Given the description of an element on the screen output the (x, y) to click on. 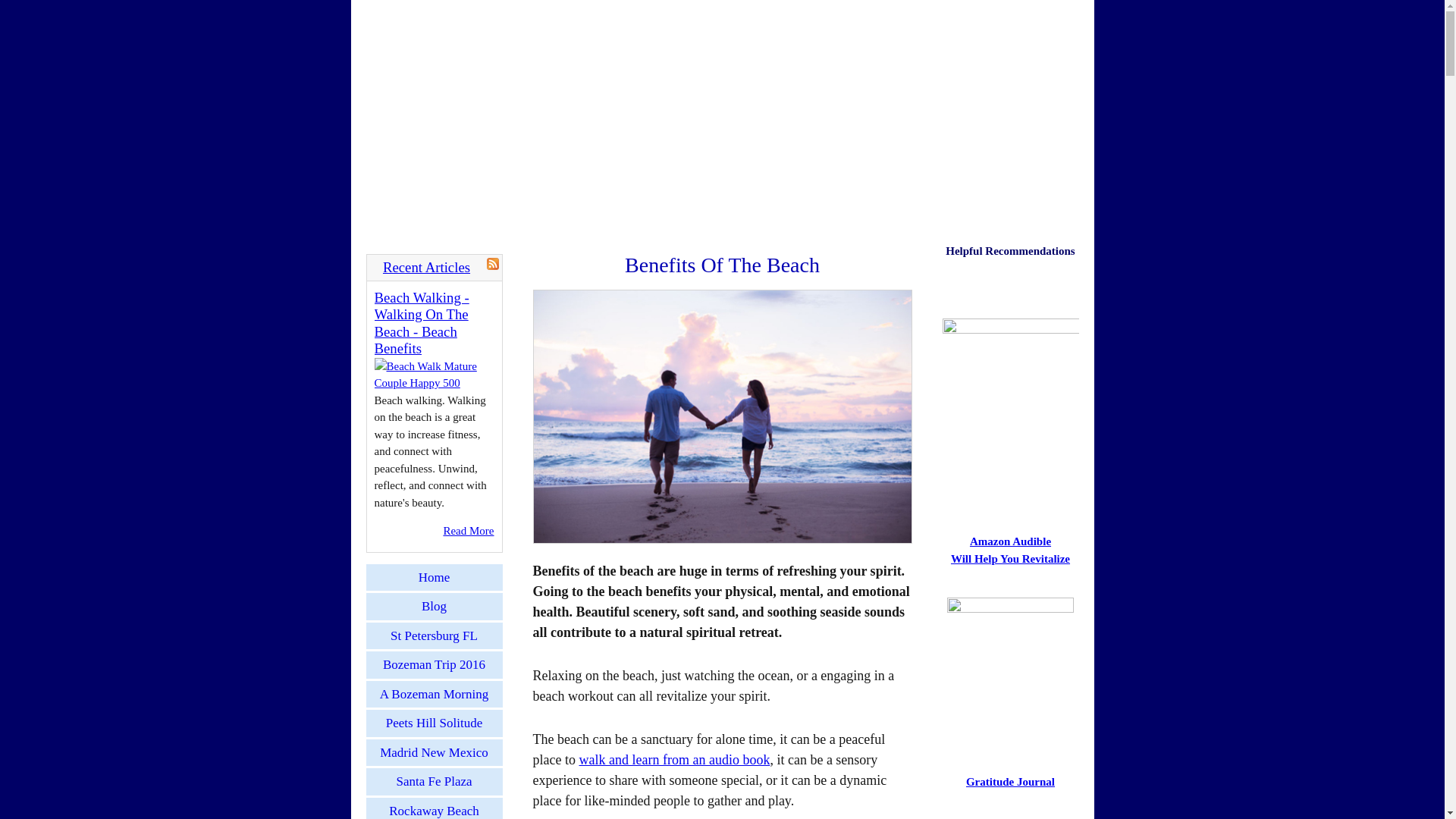
Recent Articles (426, 267)
walk and learn from an audio book (674, 759)
Beach Walking - Walking On The Beach - Beach Benefits (421, 323)
